Given the description of an element on the screen output the (x, y) to click on. 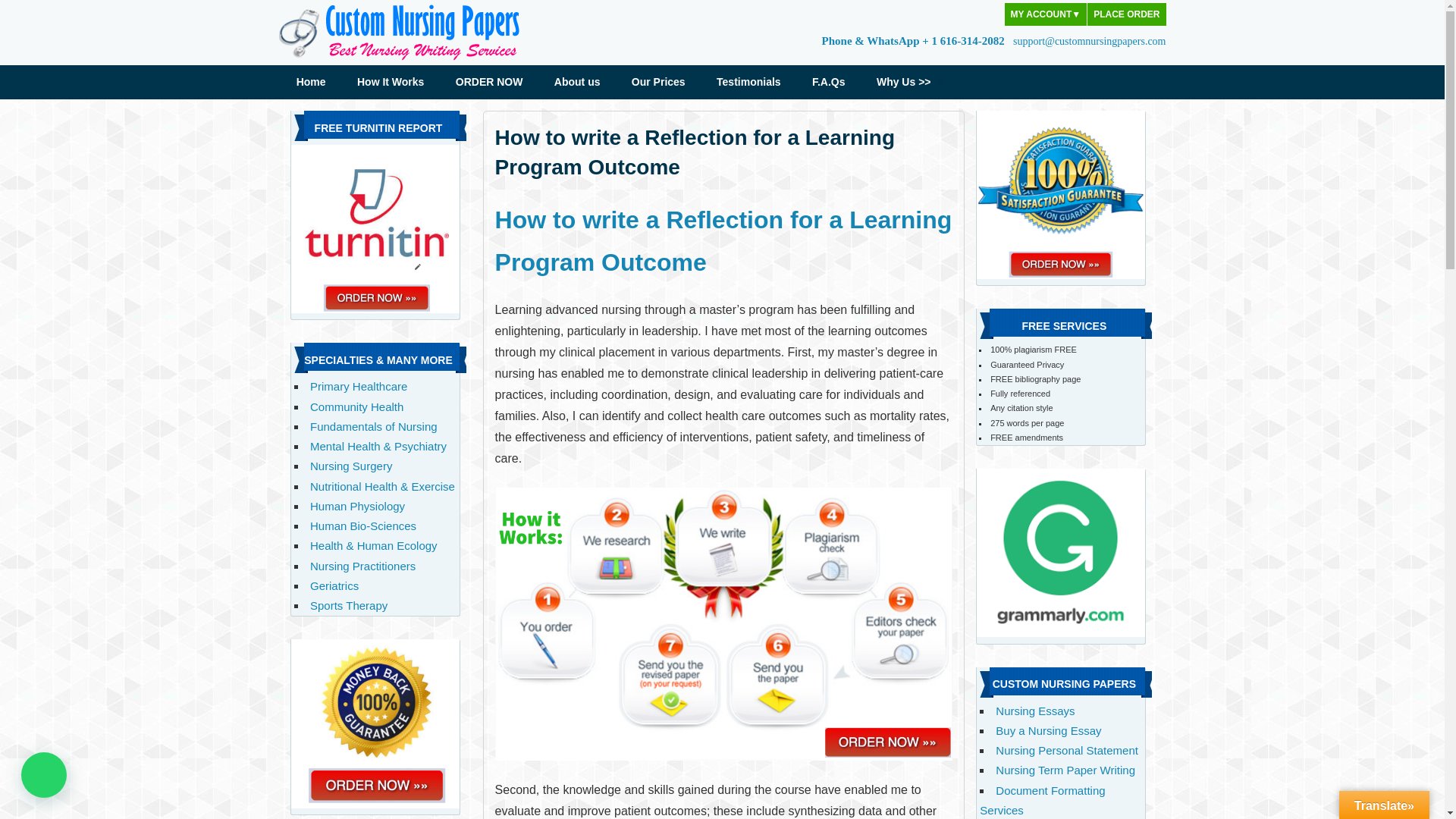
About us (577, 81)
Testimonials (748, 81)
F.A.Qs (828, 81)
How It Works (390, 81)
Our Prices (657, 81)
Home (310, 81)
PLACE ORDER (1126, 14)
How to write a Reflection for a Learning Program Outcome (723, 241)
ORDER NOW (489, 81)
